Given the description of an element on the screen output the (x, y) to click on. 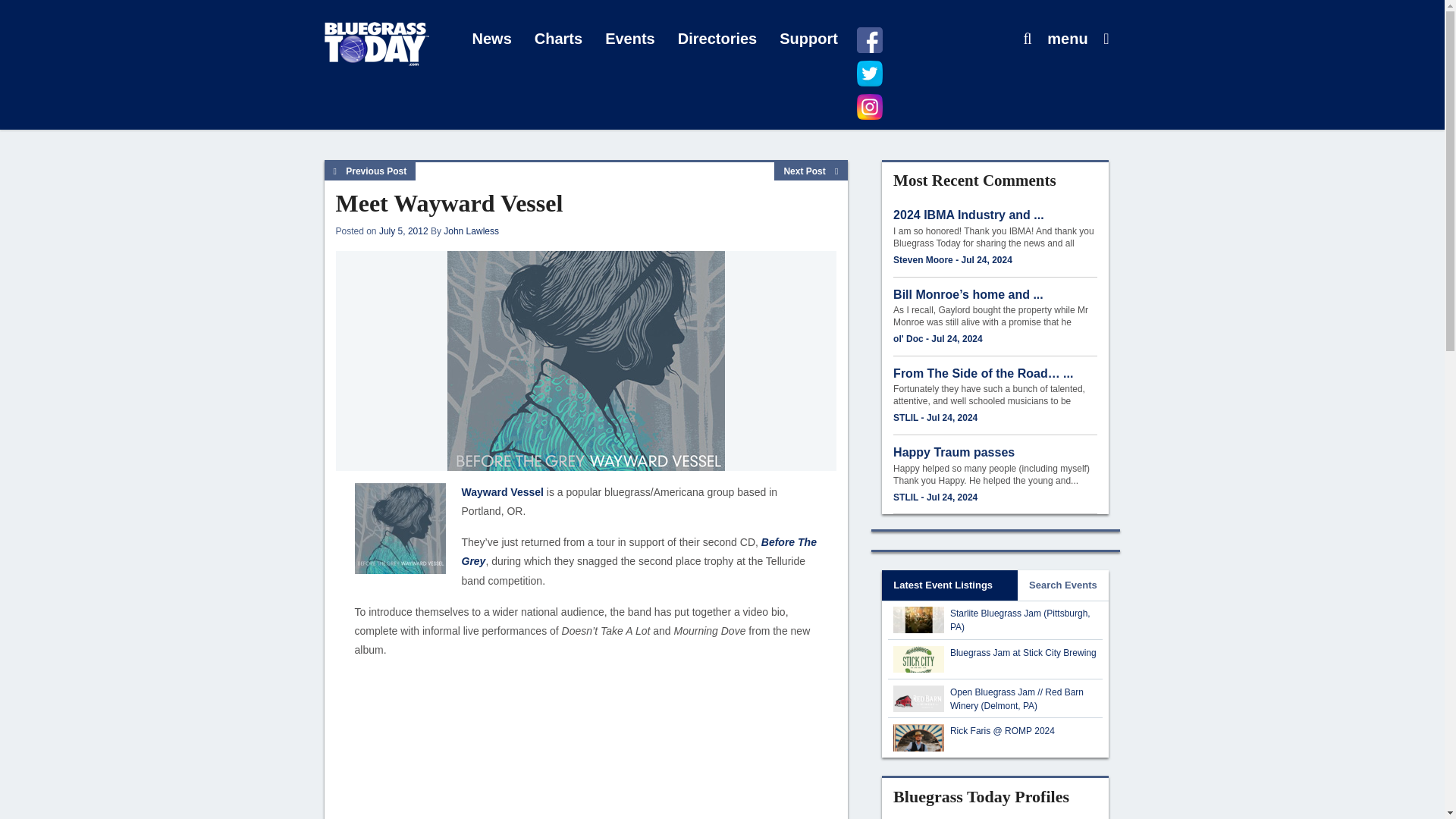
Wayward Vessel (502, 491)
Support (808, 39)
Before The Grey (638, 551)
menu (1066, 39)
Visit Wayward Vessel online (502, 491)
Directories (717, 39)
Next Post (810, 171)
July 5, 2012 (403, 231)
Charts (558, 39)
News (491, 39)
Check out Before The Grey in iTunes (638, 551)
Previous Post (370, 171)
John Lawless (471, 231)
Events (630, 39)
